Given the description of an element on the screen output the (x, y) to click on. 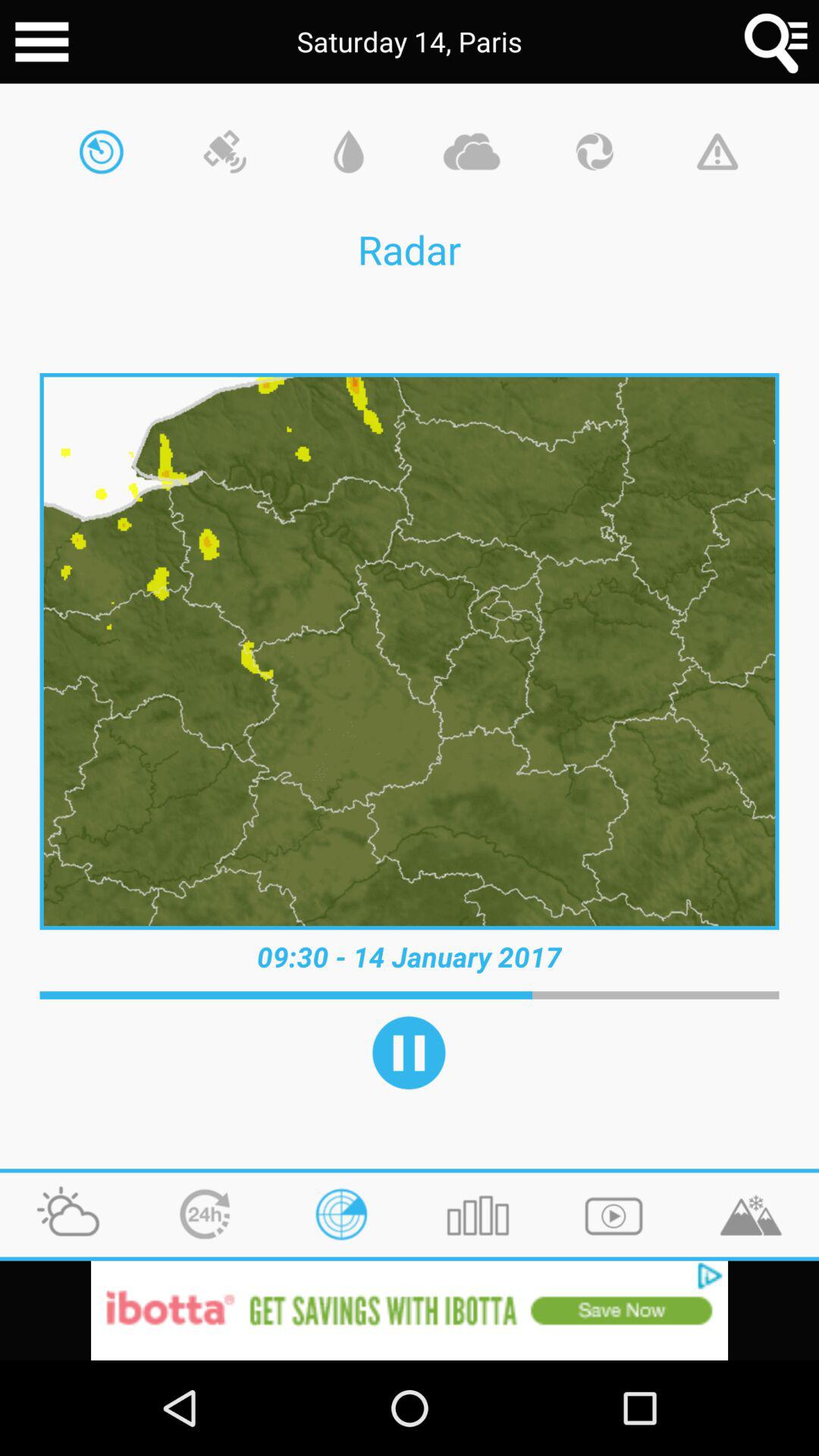
search/menu button (777, 41)
